Given the description of an element on the screen output the (x, y) to click on. 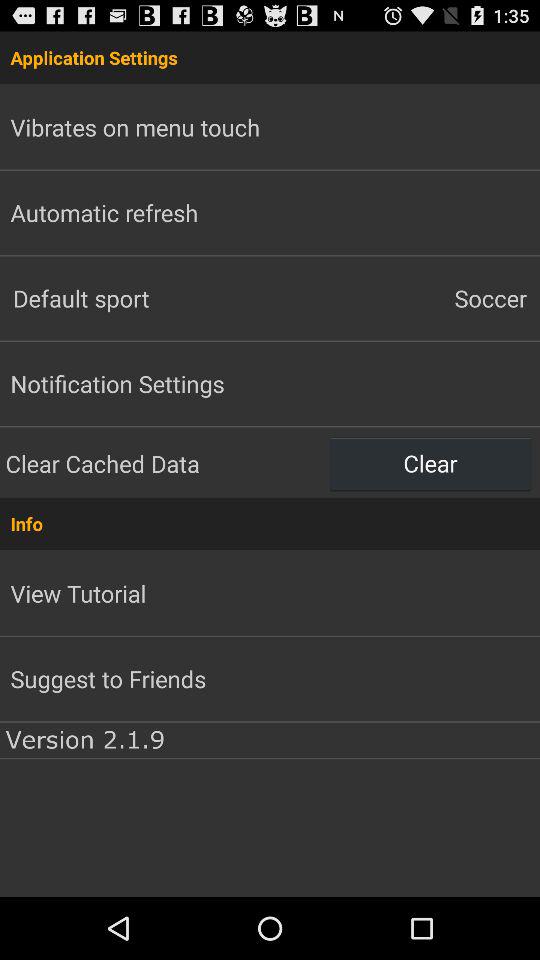
turn off the item at the center (270, 523)
